Given the description of an element on the screen output the (x, y) to click on. 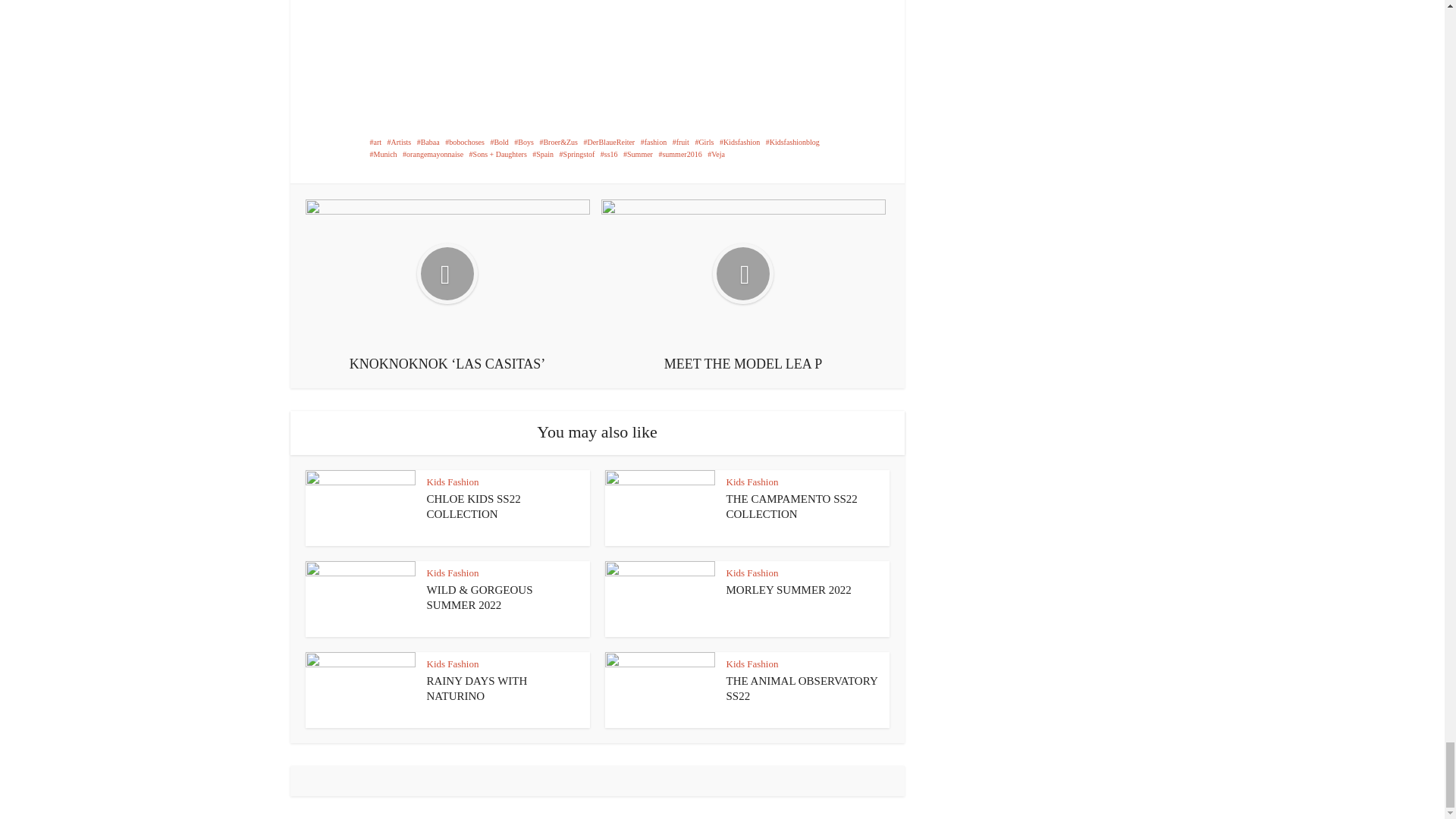
RAINY DAYS WITH NATURINO (476, 687)
MORLEY SUMMER 2022 (788, 589)
THE CAMPAMENTO SS22 COLLECTION (791, 506)
art (375, 142)
CHLOE KIDS SS22 COLLECTION (472, 506)
THE ANIMAL OBSERVATORY SS22 (801, 687)
